Given the description of an element on the screen output the (x, y) to click on. 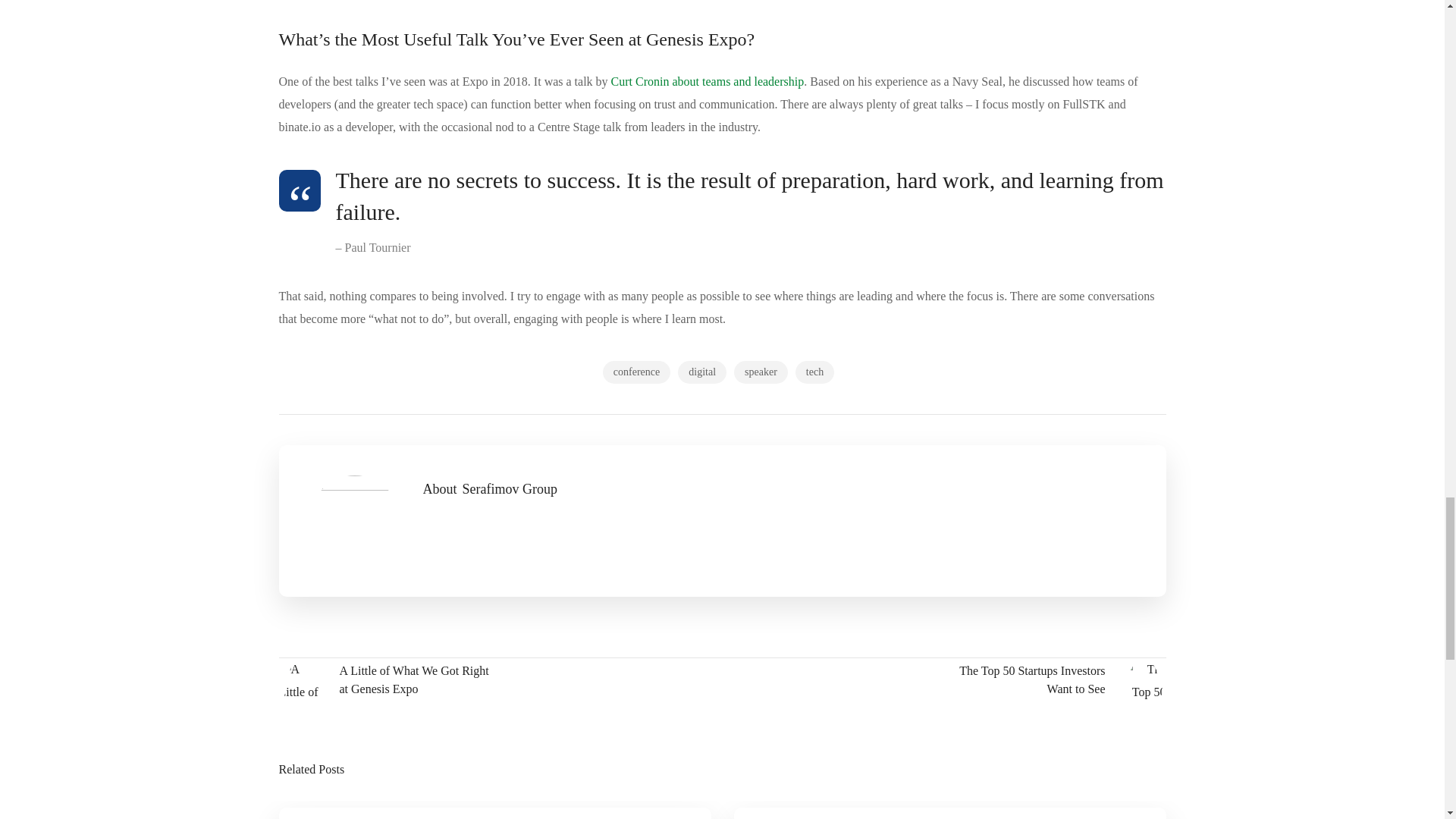
The Top 50 Startups  Investors Want to See (1056, 680)
A Little of What We Got  Right at Genesis Expo (389, 680)
